Given the description of an element on the screen output the (x, y) to click on. 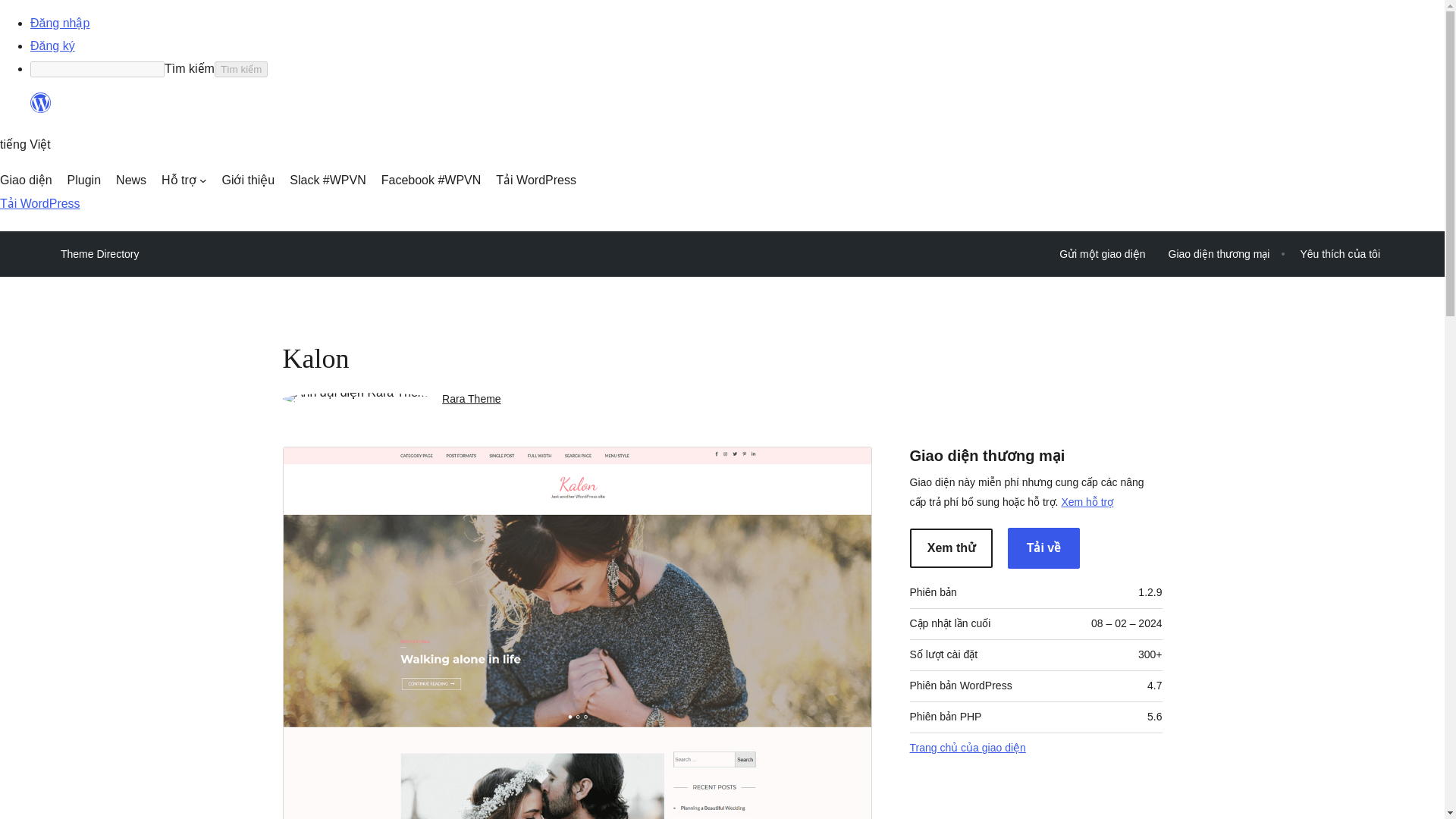
WordPress.org (40, 109)
Rara Theme (471, 398)
Theme Directory (99, 253)
WordPress.org (40, 102)
News (131, 179)
Plugin (83, 179)
